Given the description of an element on the screen output the (x, y) to click on. 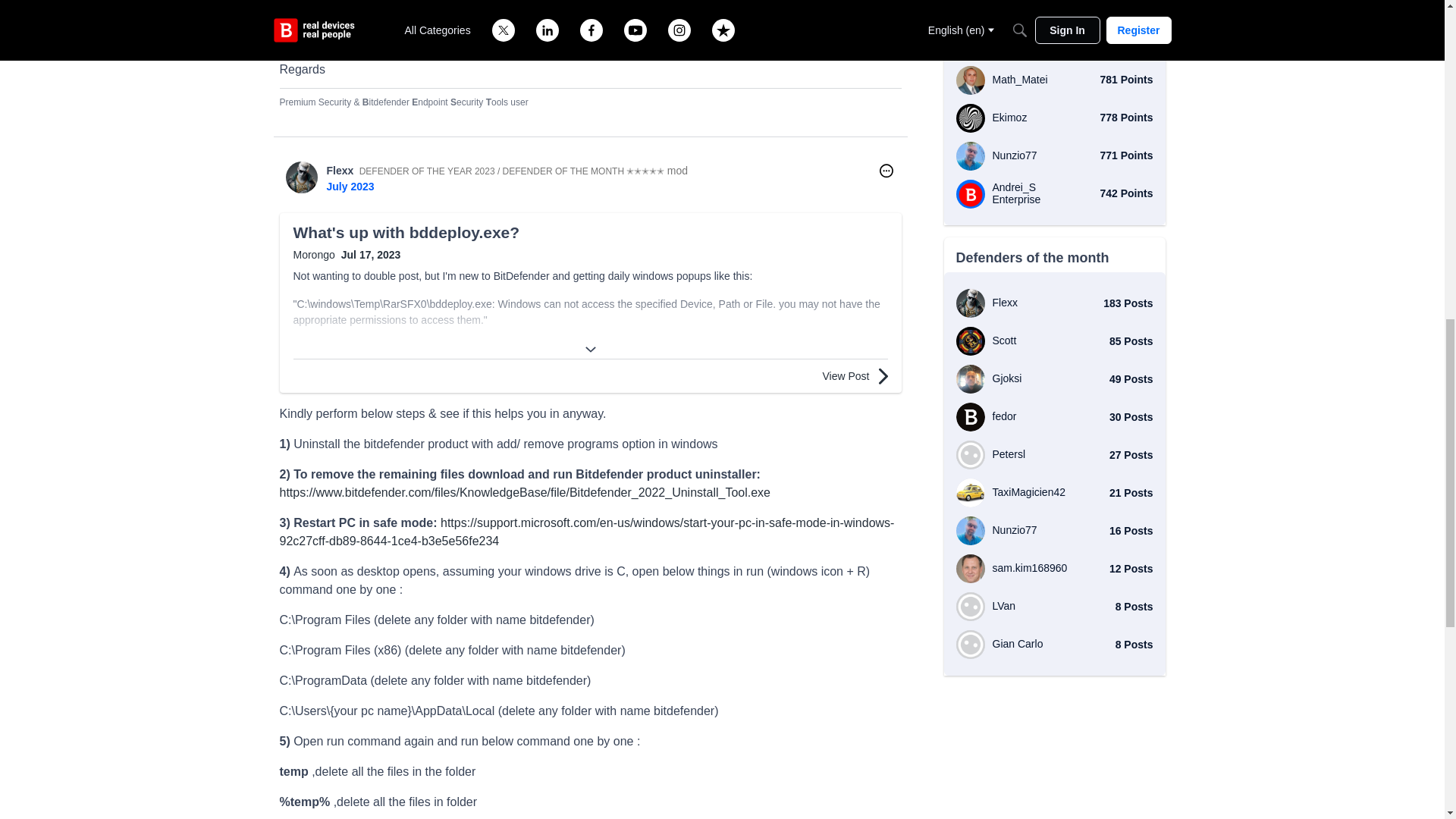
View Post (854, 375)
What's up with bddeploy.exe? (589, 232)
Morongo (313, 254)
July 19, 2023 3:31PM (350, 186)
Expand (590, 349)
July 2023 (350, 186)
Flexx (301, 177)
Jul 17, 2023 (370, 254)
Monday, July 17, 2023 at 8:49 PM (370, 254)
Flexx (339, 170)
Moderator (676, 170)
